Given the description of an element on the screen output the (x, y) to click on. 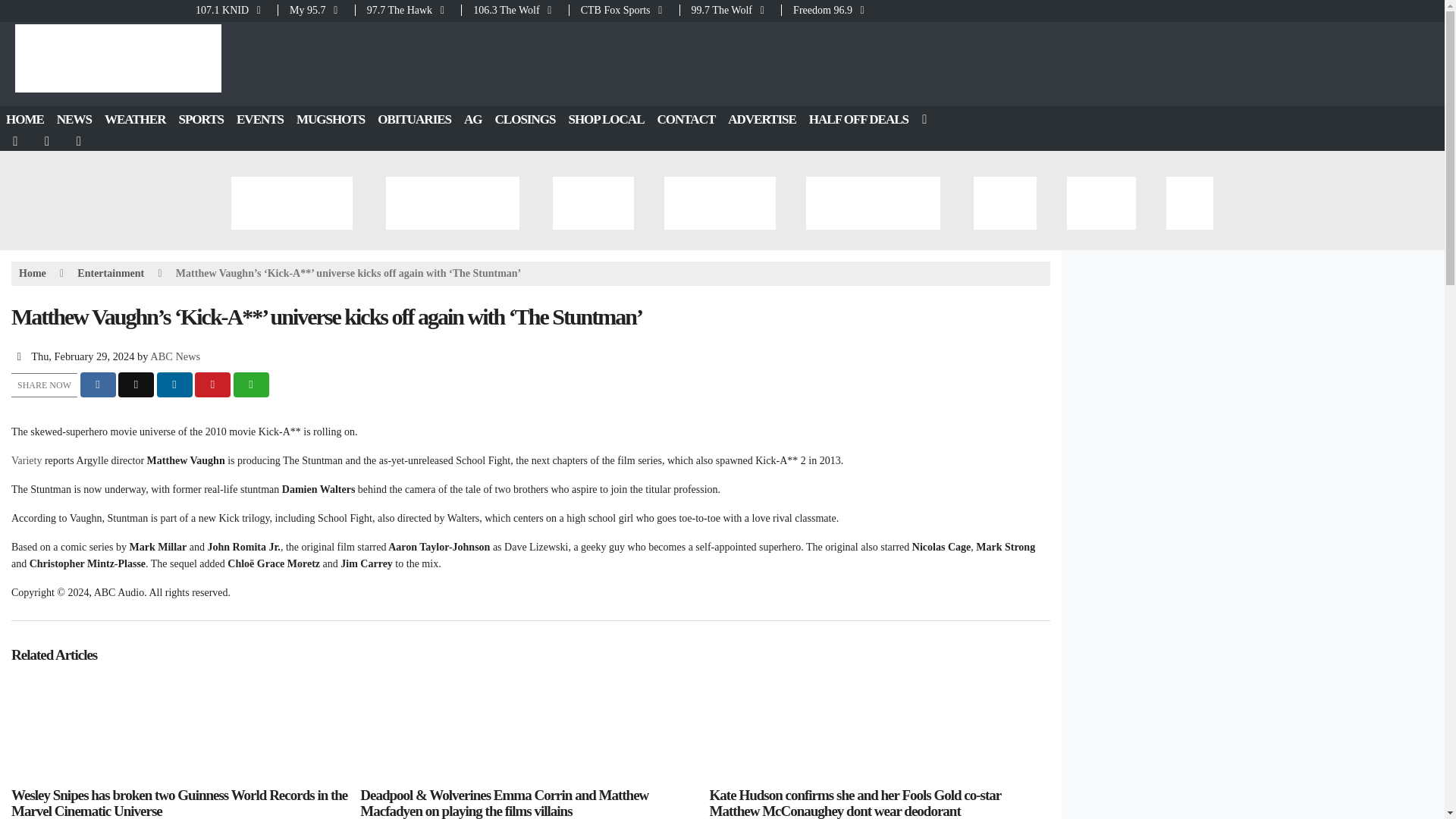
Follow us on Facebook (16, 140)
107.1 KNID (235, 9)
Share to Facebook (98, 384)
Follow us on X (48, 140)
Follow us on Instagram (80, 140)
My 95.7 (316, 9)
Posts by ABC News (174, 356)
